Given the description of an element on the screen output the (x, y) to click on. 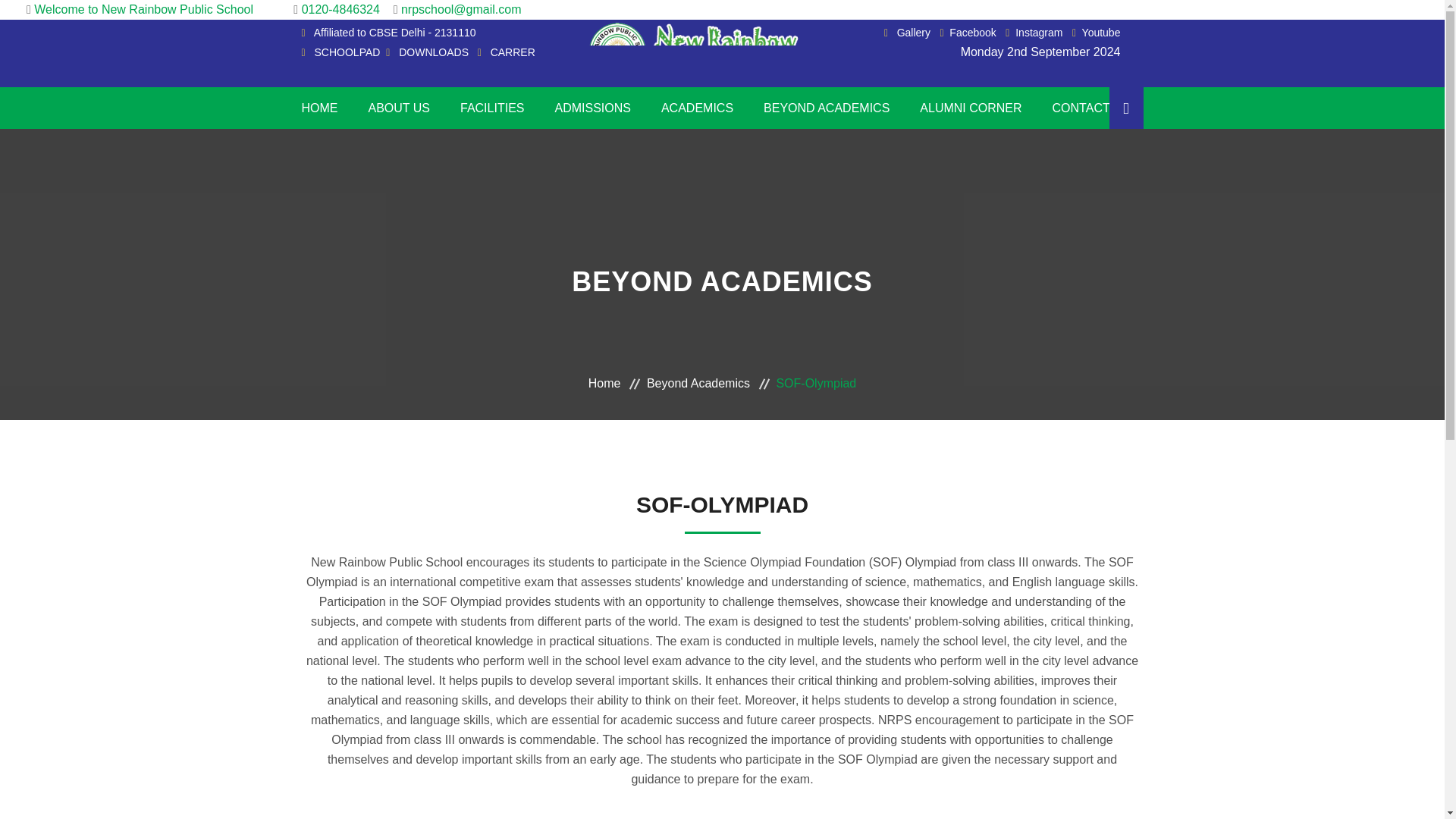
Monday 2nd September 2024 (1040, 51)
  Facebook (967, 32)
0120-4846324    (345, 9)
ABOUT US (399, 107)
Affiliated to CBSE Delhi - 2131110 (395, 32)
  Youtube (1096, 32)
FACILITIES (492, 107)
Welcome to New Rainbow Public School (143, 9)
SCHOOLPAD (347, 51)
  Instagram (1034, 32)
